Given the description of an element on the screen output the (x, y) to click on. 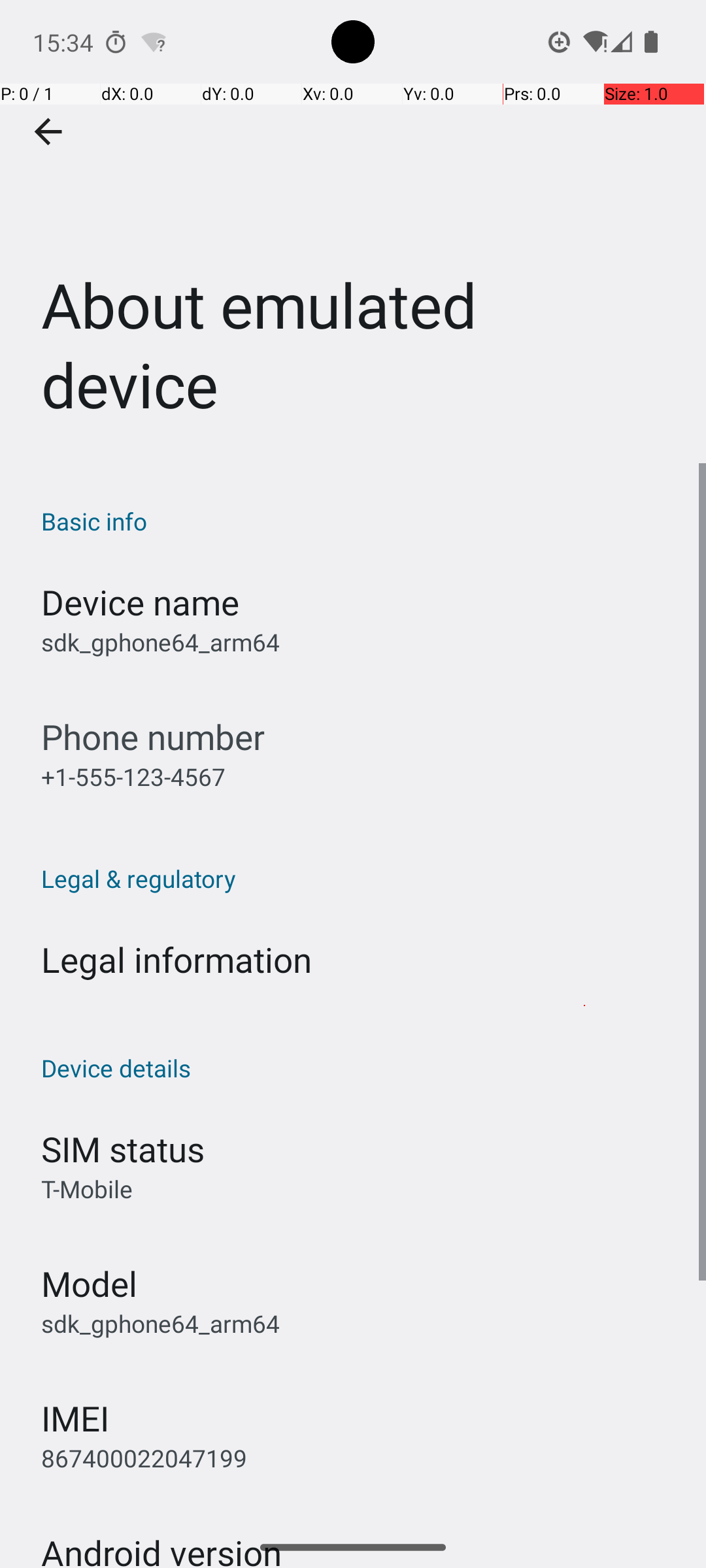
About emulated device Element type: android.widget.FrameLayout (353, 231)
Basic info Element type: android.widget.TextView (359, 520)
Phone number Element type: android.widget.TextView (152, 736)
+1-555-123-4567 Element type: android.widget.TextView (133, 776)
Legal & regulatory Element type: android.widget.TextView (359, 878)
Legal information Element type: android.widget.TextView (176, 959)
Device details Element type: android.widget.TextView (359, 1067)
SIM status Element type: android.widget.TextView (122, 1148)
Model Element type: android.widget.TextView (89, 1283)
IMEI Element type: android.widget.TextView (75, 1417)
867400022047199 Element type: android.widget.TextView (144, 1457)
